Given the description of an element on the screen output the (x, y) to click on. 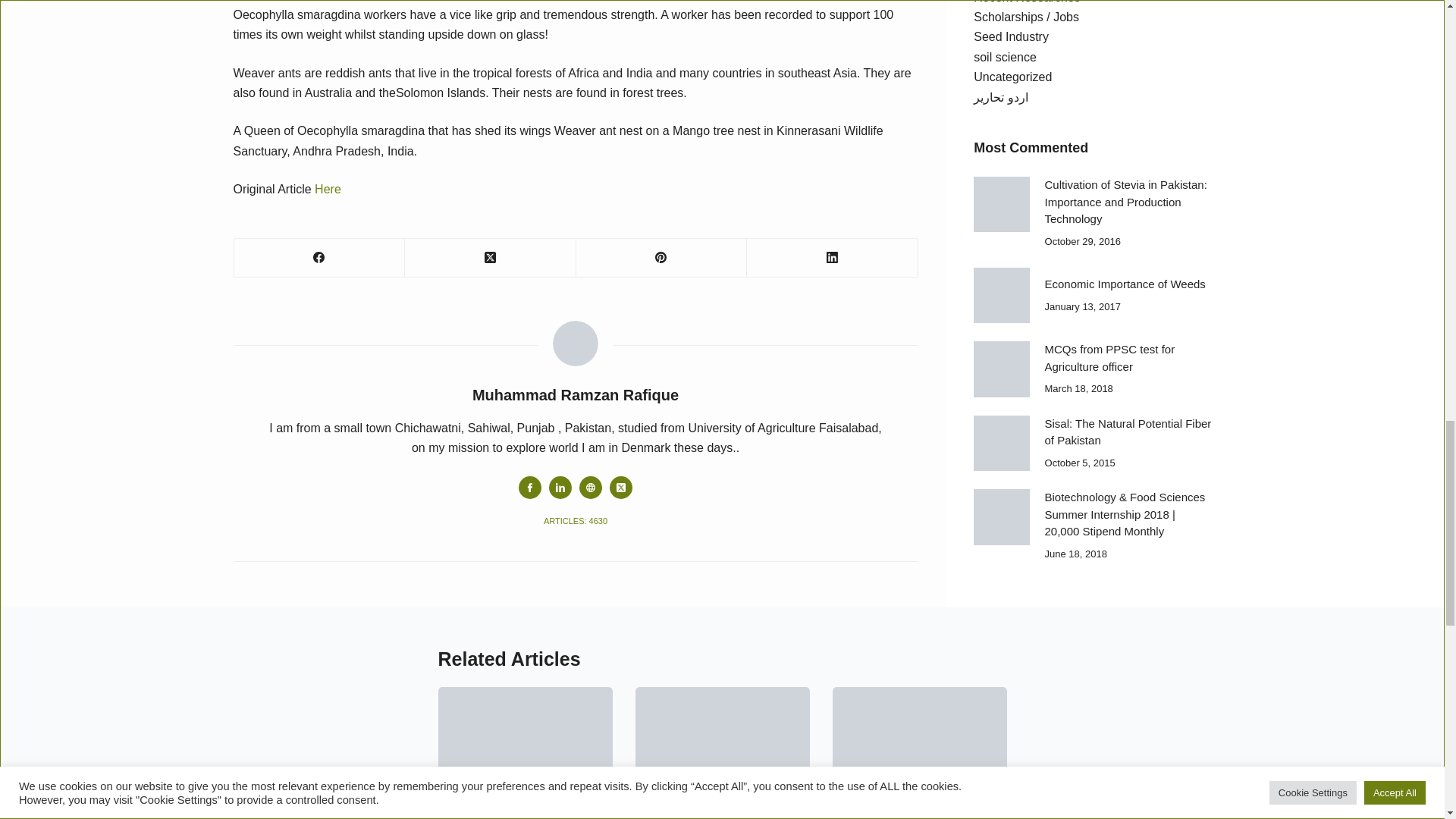
Here (327, 188)
